Given the description of an element on the screen output the (x, y) to click on. 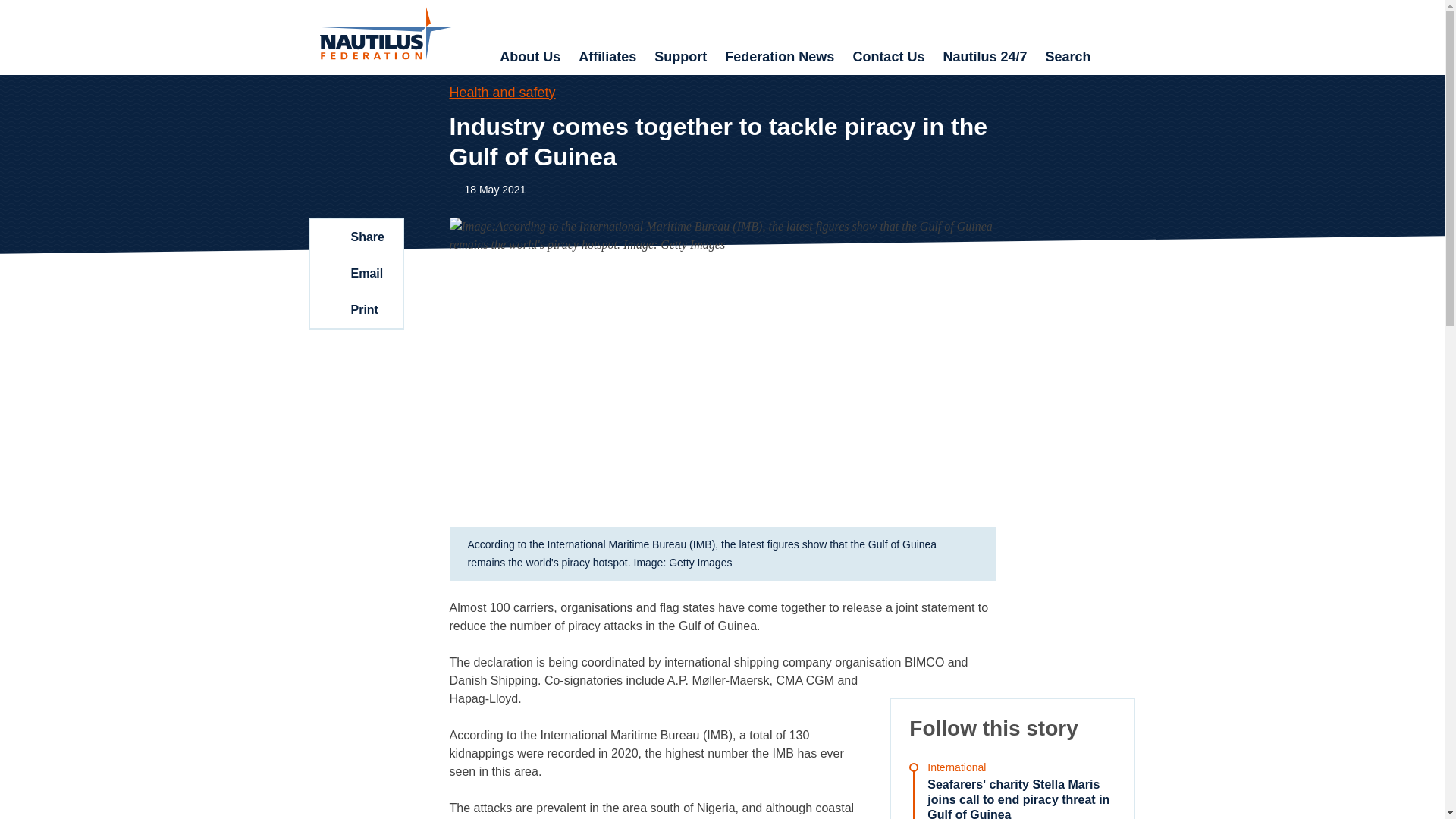
Email (354, 273)
Print (354, 309)
Affiliates (607, 57)
Health and safety (501, 92)
Share (354, 237)
Contact Us (888, 57)
joint statement (934, 607)
Federation News (779, 57)
Support (680, 57)
